Given the description of an element on the screen output the (x, y) to click on. 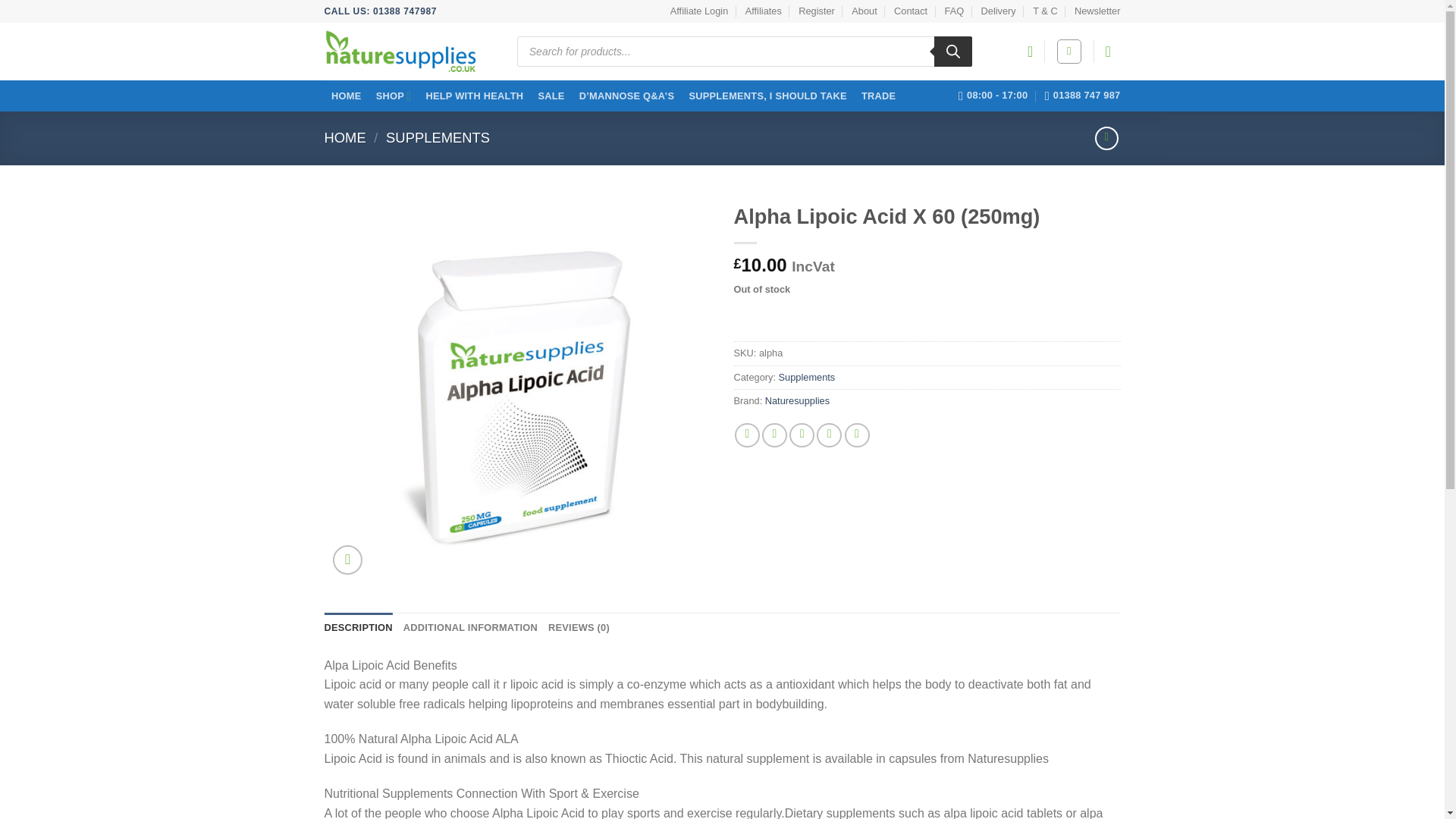
01388 747 987 (1083, 95)
Contact (910, 11)
SHOP (393, 96)
Newsletter (1096, 11)
HOME (346, 96)
Register (815, 11)
Affiliates (763, 11)
Affiliate Login (699, 11)
Delivery (998, 11)
About (863, 11)
Basket (1113, 51)
CALL US: 01388 747987 (380, 10)
Share on Twitter (774, 435)
FAQ (953, 11)
